Given the description of an element on the screen output the (x, y) to click on. 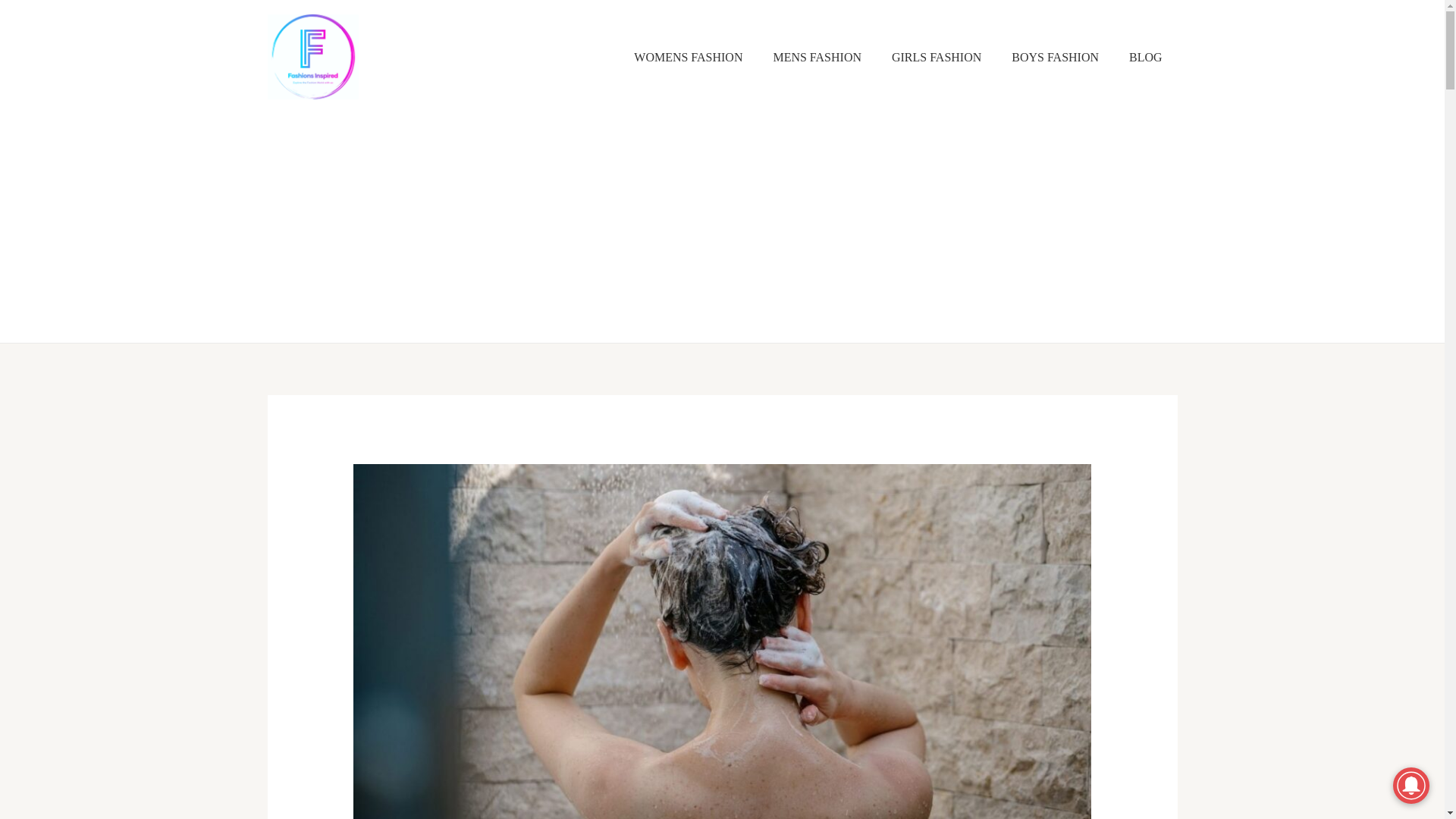
BLOG (1145, 57)
GIRLS FASHION (935, 57)
MENS FASHION (816, 57)
BOYS FASHION (1054, 57)
WOMENS FASHION (687, 57)
